Given the description of an element on the screen output the (x, y) to click on. 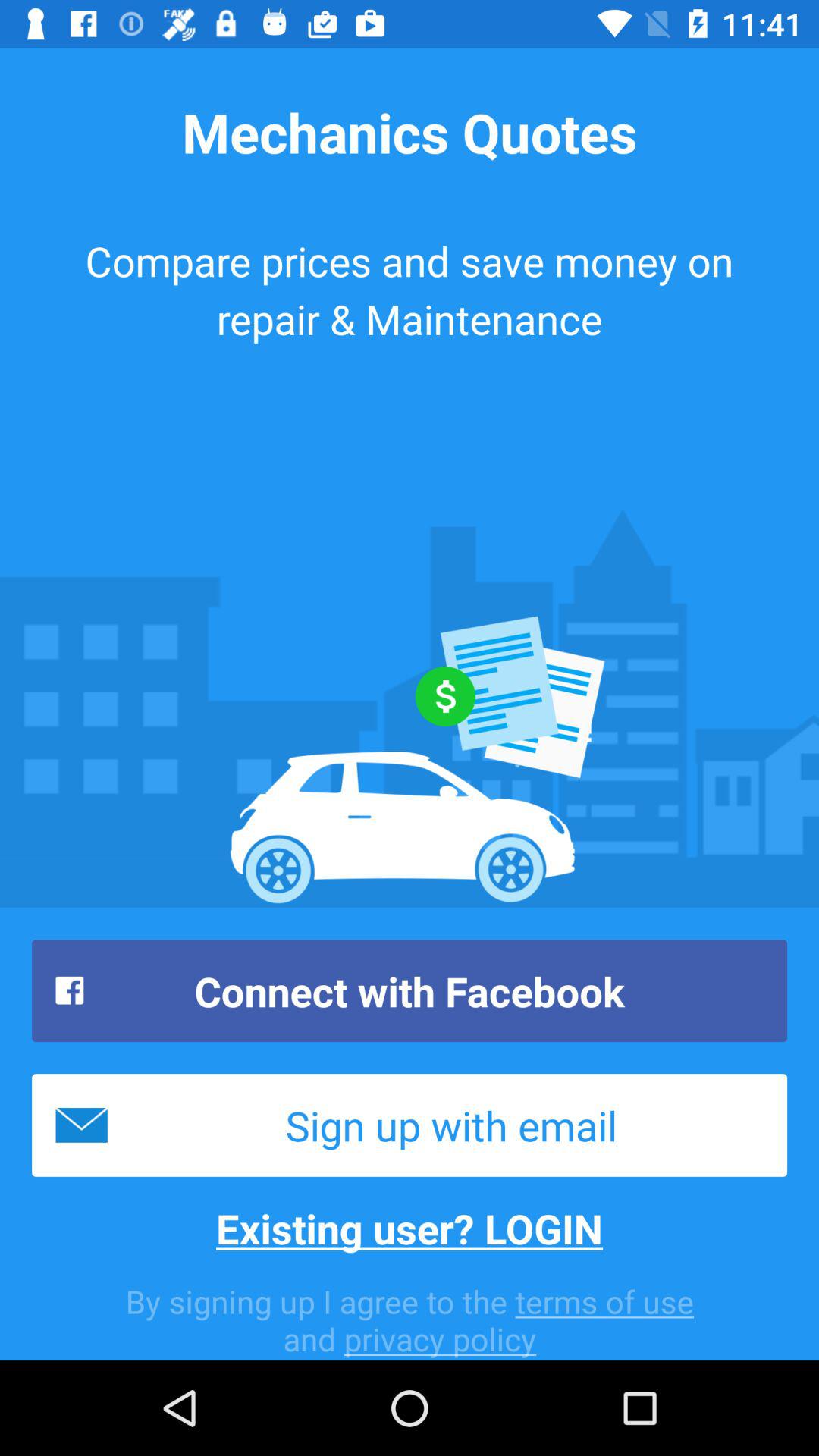
launch the icon below existing user? login (409, 1319)
